Given the description of an element on the screen output the (x, y) to click on. 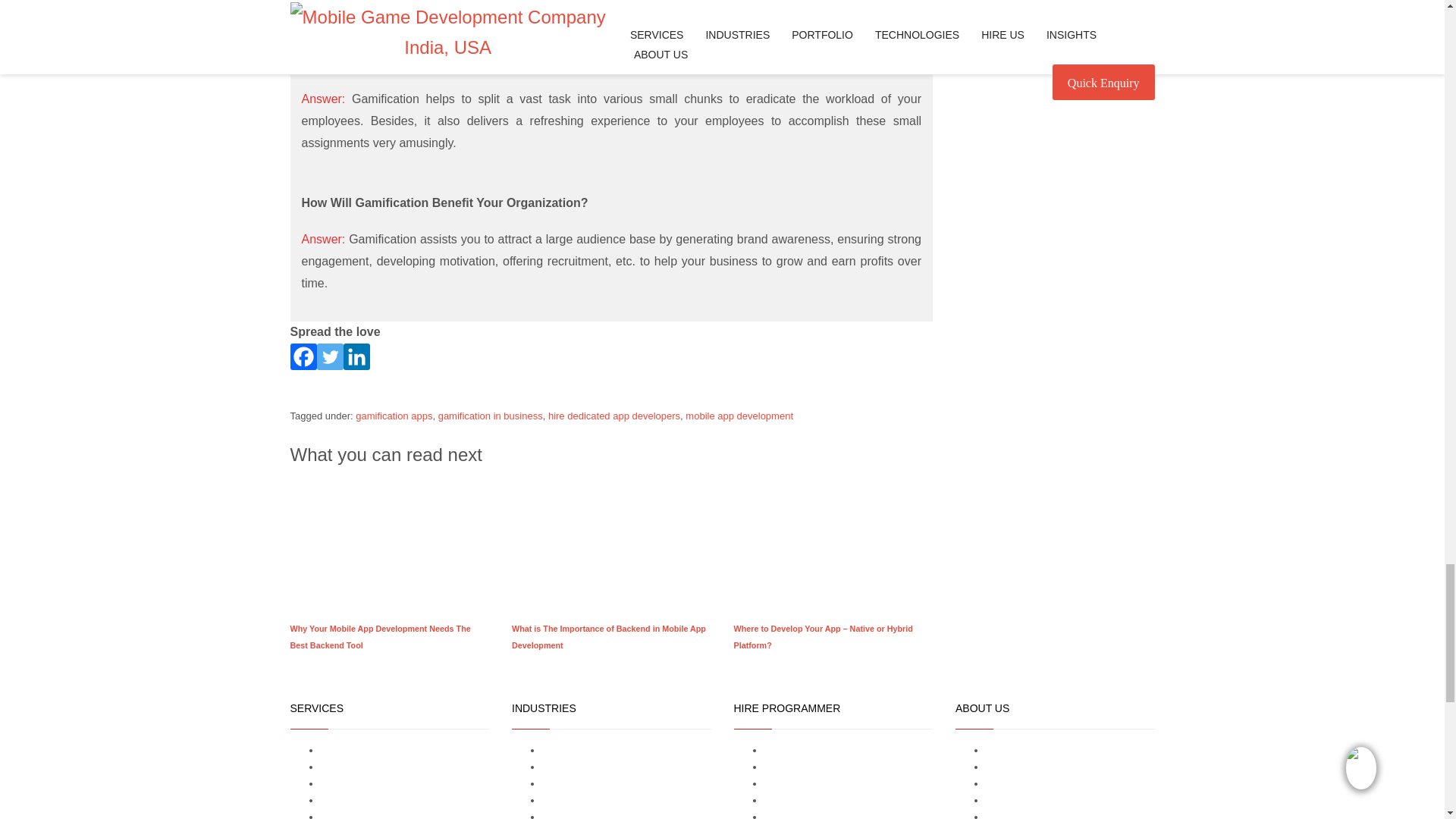
Native vs Hybrid (832, 541)
Linkedin (355, 356)
Facebook (302, 356)
Twitter (330, 356)
